Given the description of an element on the screen output the (x, y) to click on. 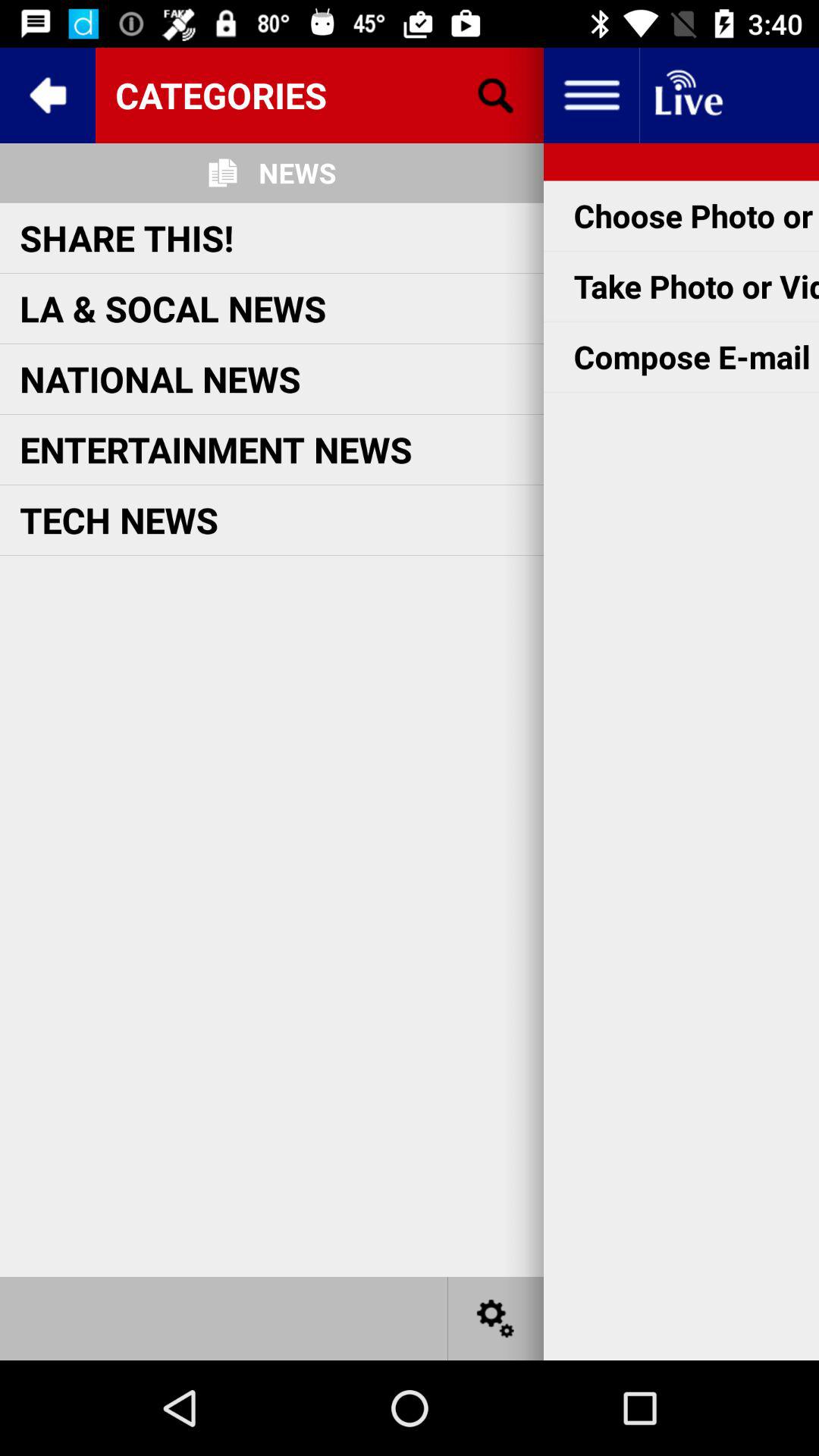
choose the share this! icon (126, 237)
